Given the description of an element on the screen output the (x, y) to click on. 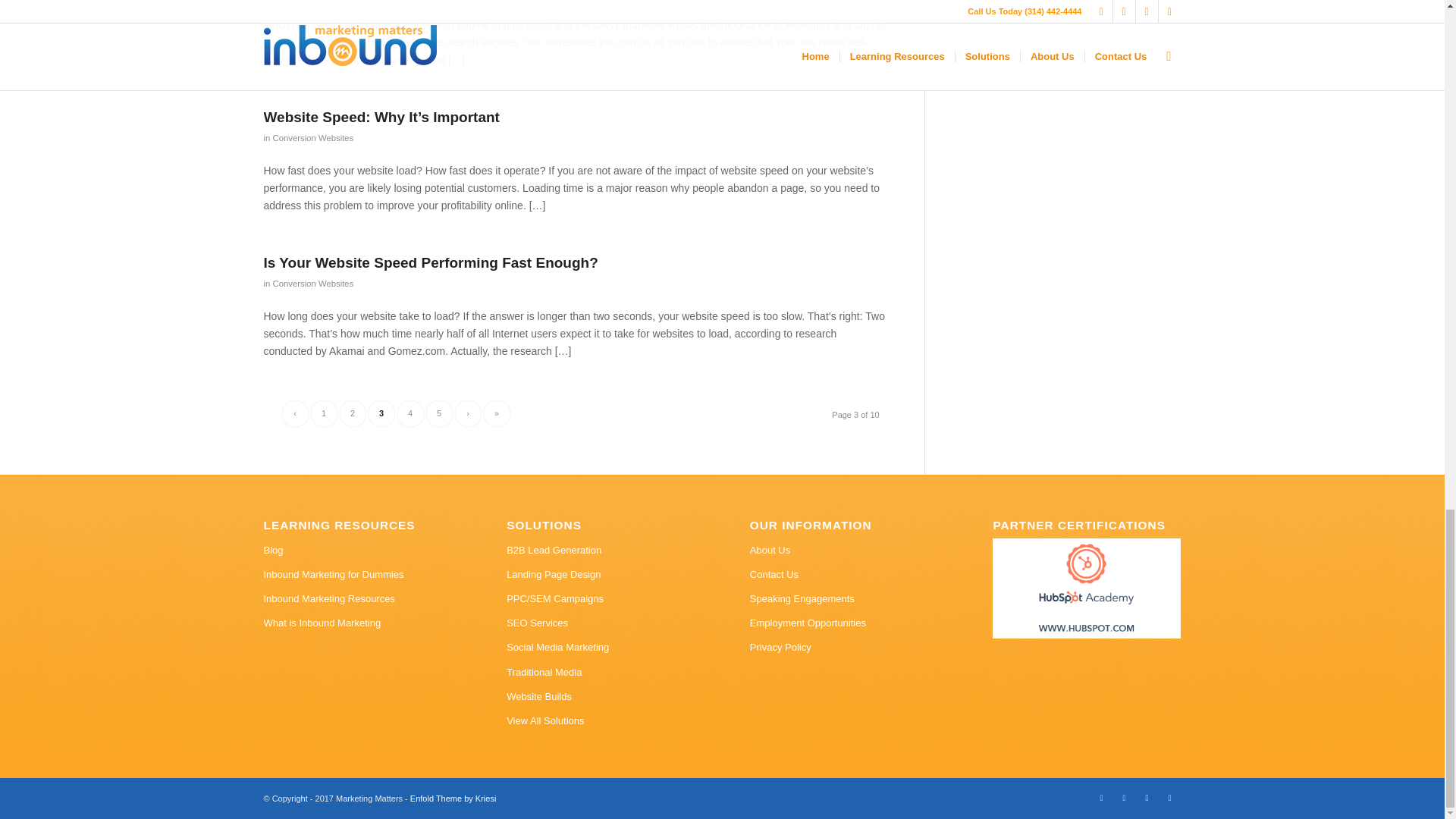
Conversion Websites (312, 137)
1 (324, 413)
Conversion Websites (312, 283)
Is Your Website Speed Performing Fast Enough? (430, 262)
2 (352, 413)
